Given the description of an element on the screen output the (x, y) to click on. 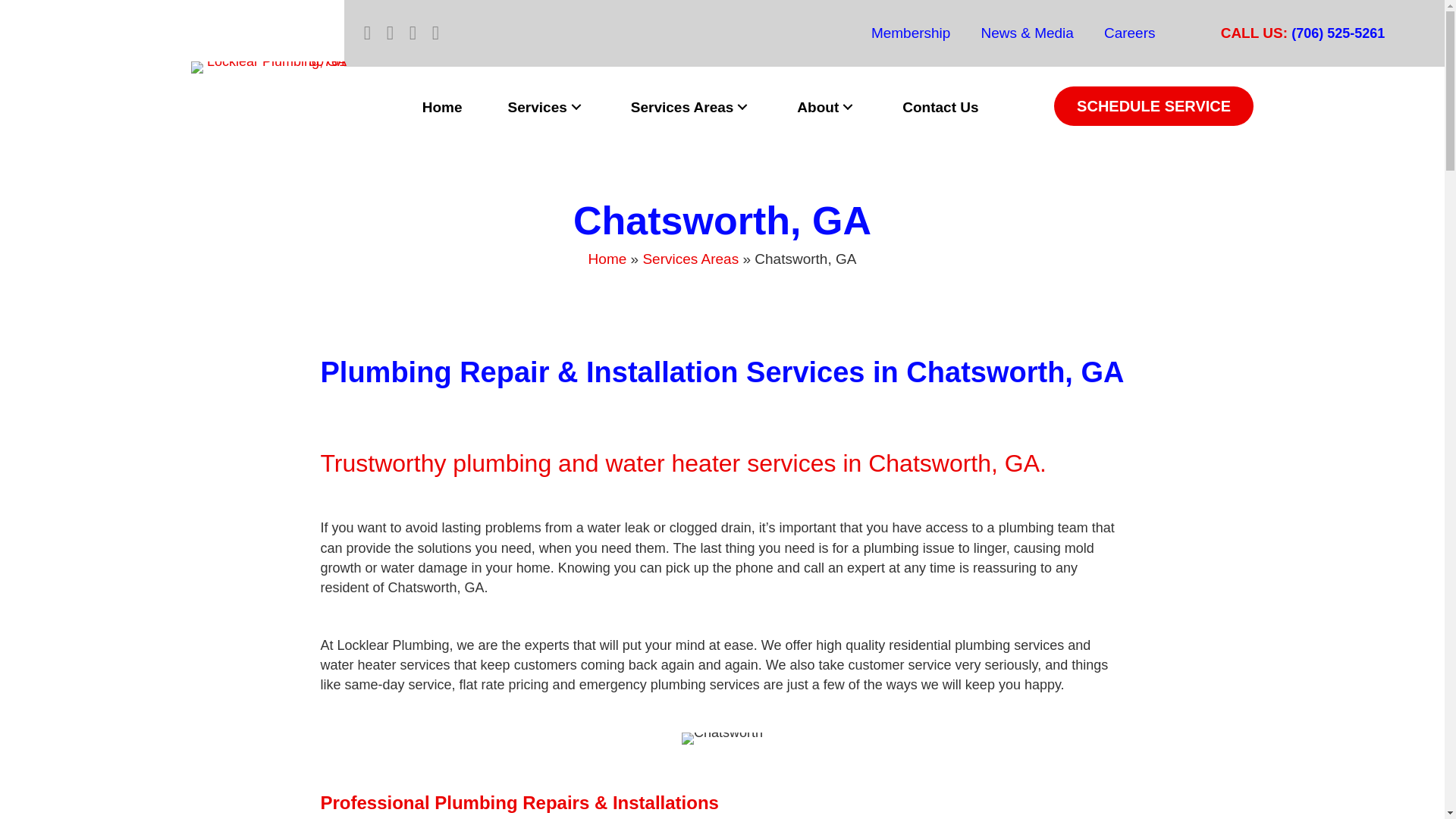
Services Areas (691, 107)
Locklear Plumbing (268, 67)
Membership (911, 32)
Home (442, 107)
Services (546, 107)
Chatsworth (721, 738)
Careers (1129, 32)
